Given the description of an element on the screen output the (x, y) to click on. 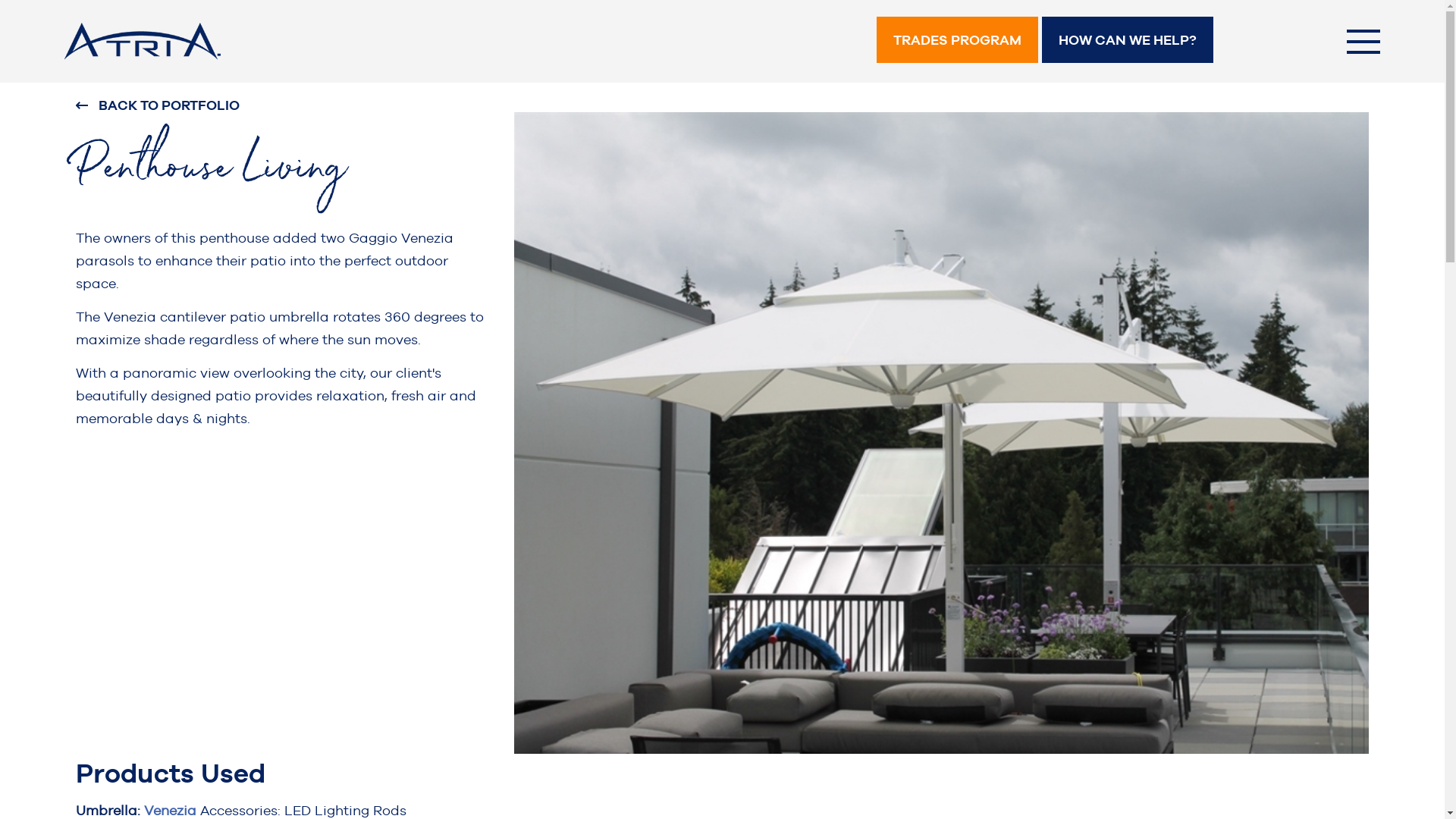
Venezia Element type: text (172, 810)
Open Element type: hover (1363, 38)
TRADES PROGRAM Element type: text (957, 39)
BACK TO PORTFOLIO Element type: text (283, 104)
Atria Holistic Outdoor Design Element type: hover (220, 40)
Umbrella: Element type: text (109, 810)
Two white umbrellas shade a rooftop patio Element type: hover (941, 432)
HOW CAN WE HELP? Element type: text (1127, 39)
